Given the description of an element on the screen output the (x, y) to click on. 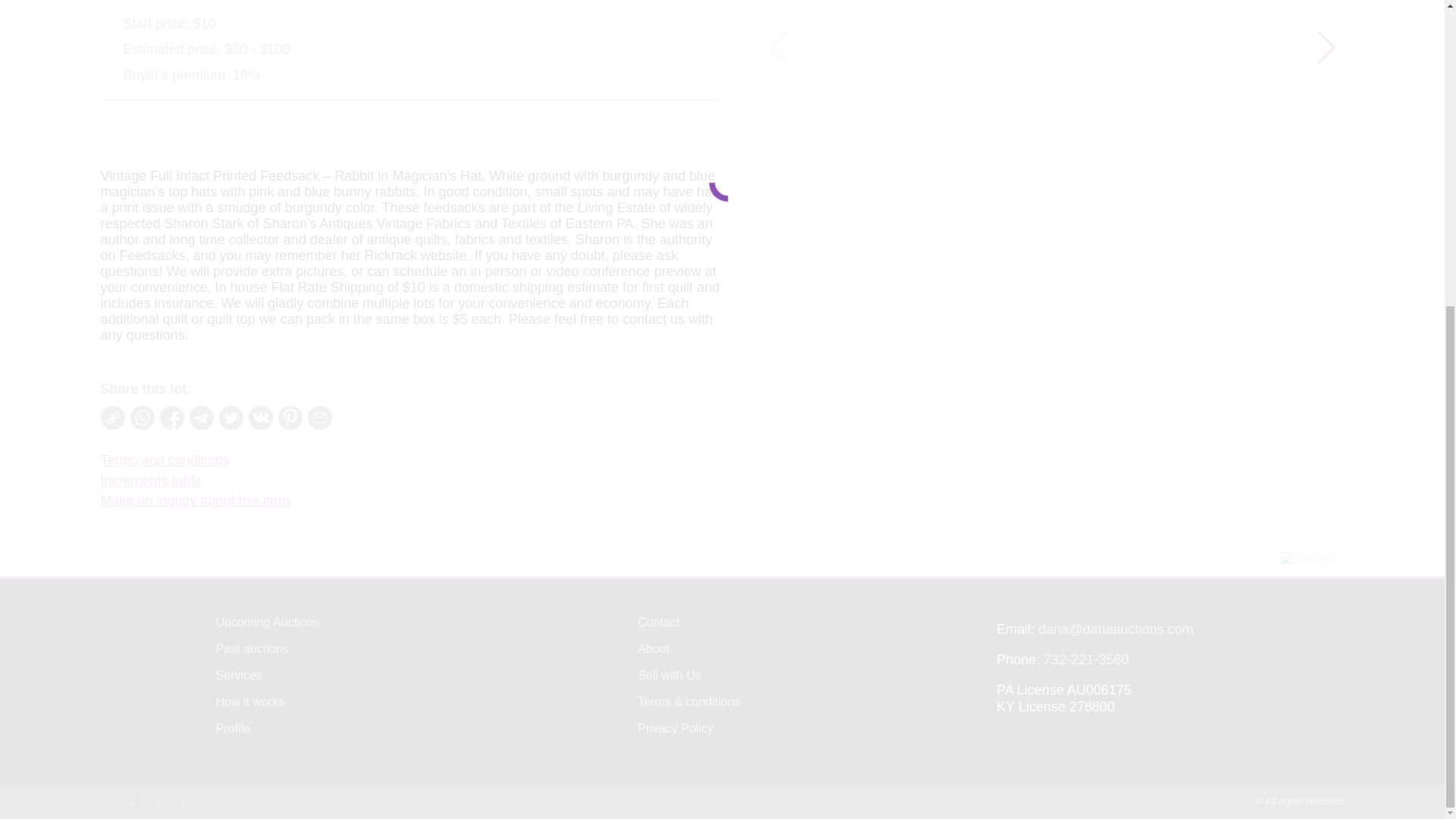
collage (1308, 560)
